Given the description of an element on the screen output the (x, y) to click on. 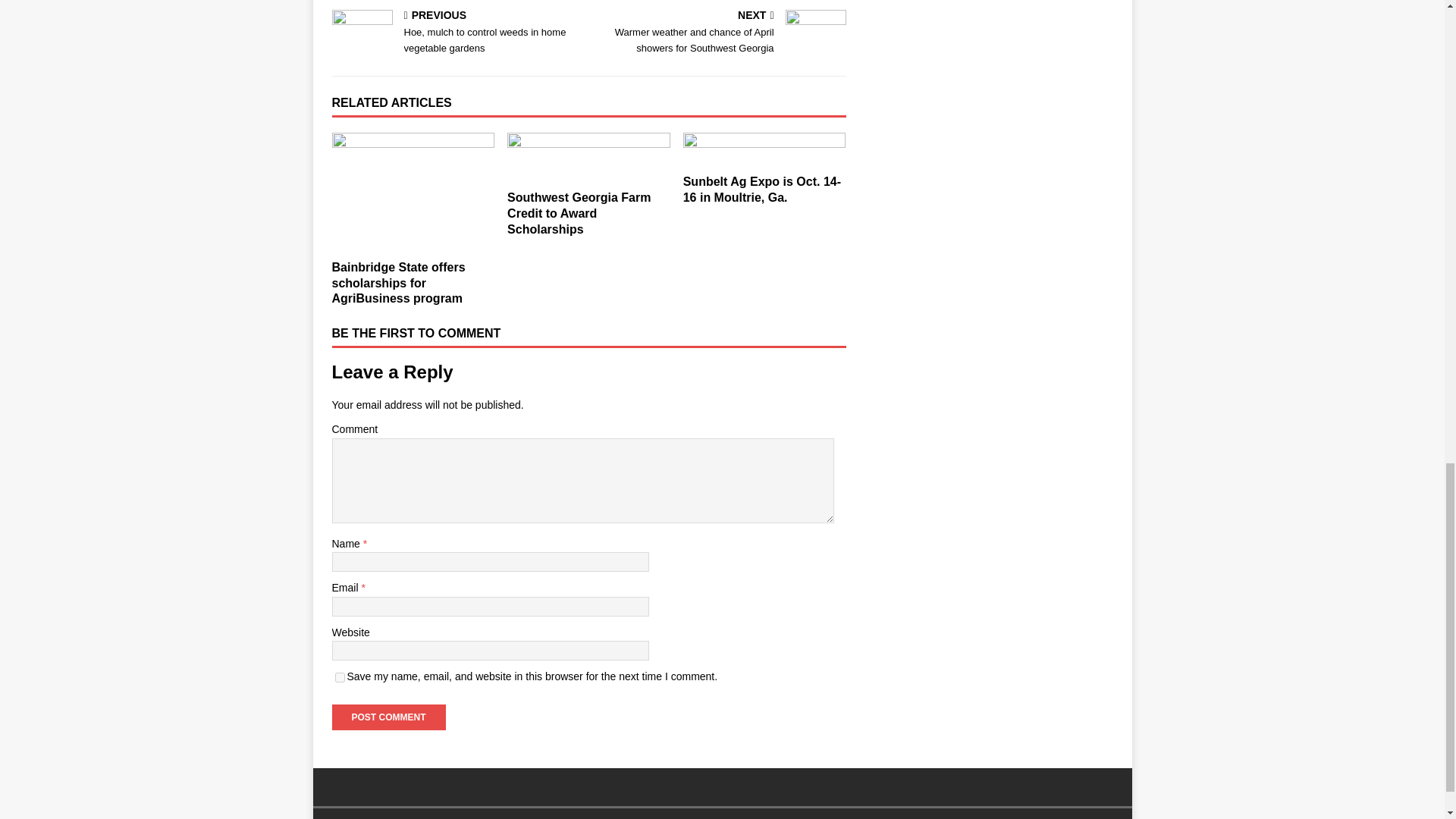
yes (339, 677)
Post Comment (388, 717)
